Given the description of an element on the screen output the (x, y) to click on. 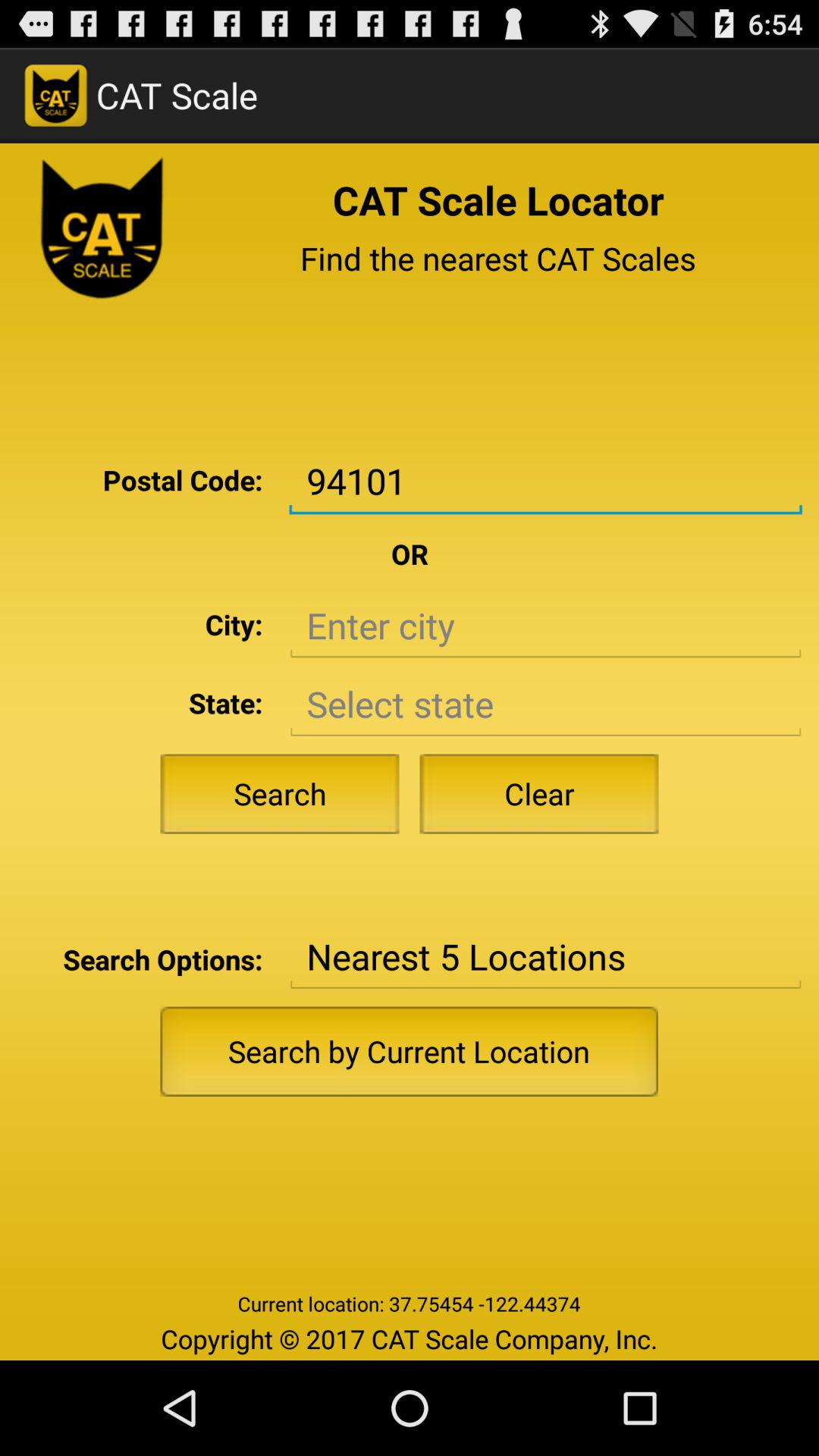
enter city name (545, 625)
